Given the description of an element on the screen output the (x, y) to click on. 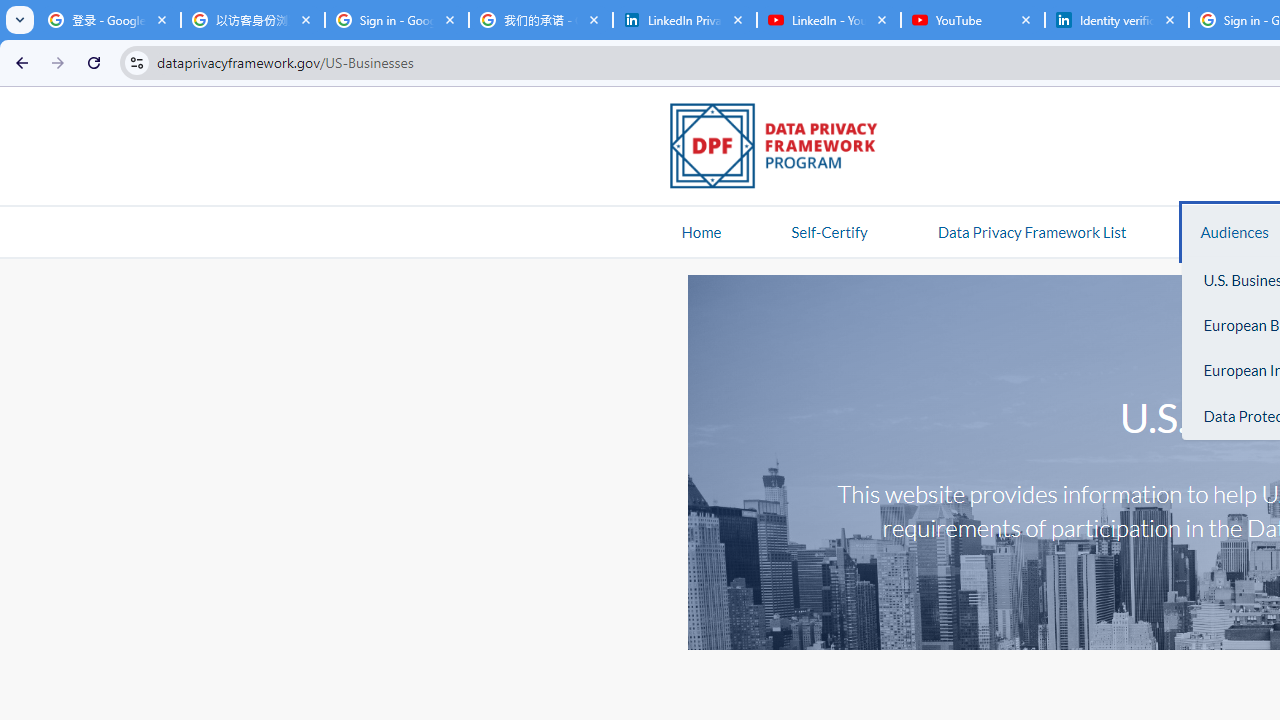
Self-Certify (829, 231)
Sign in - Google Accounts (396, 20)
